Given the description of an element on the screen output the (x, y) to click on. 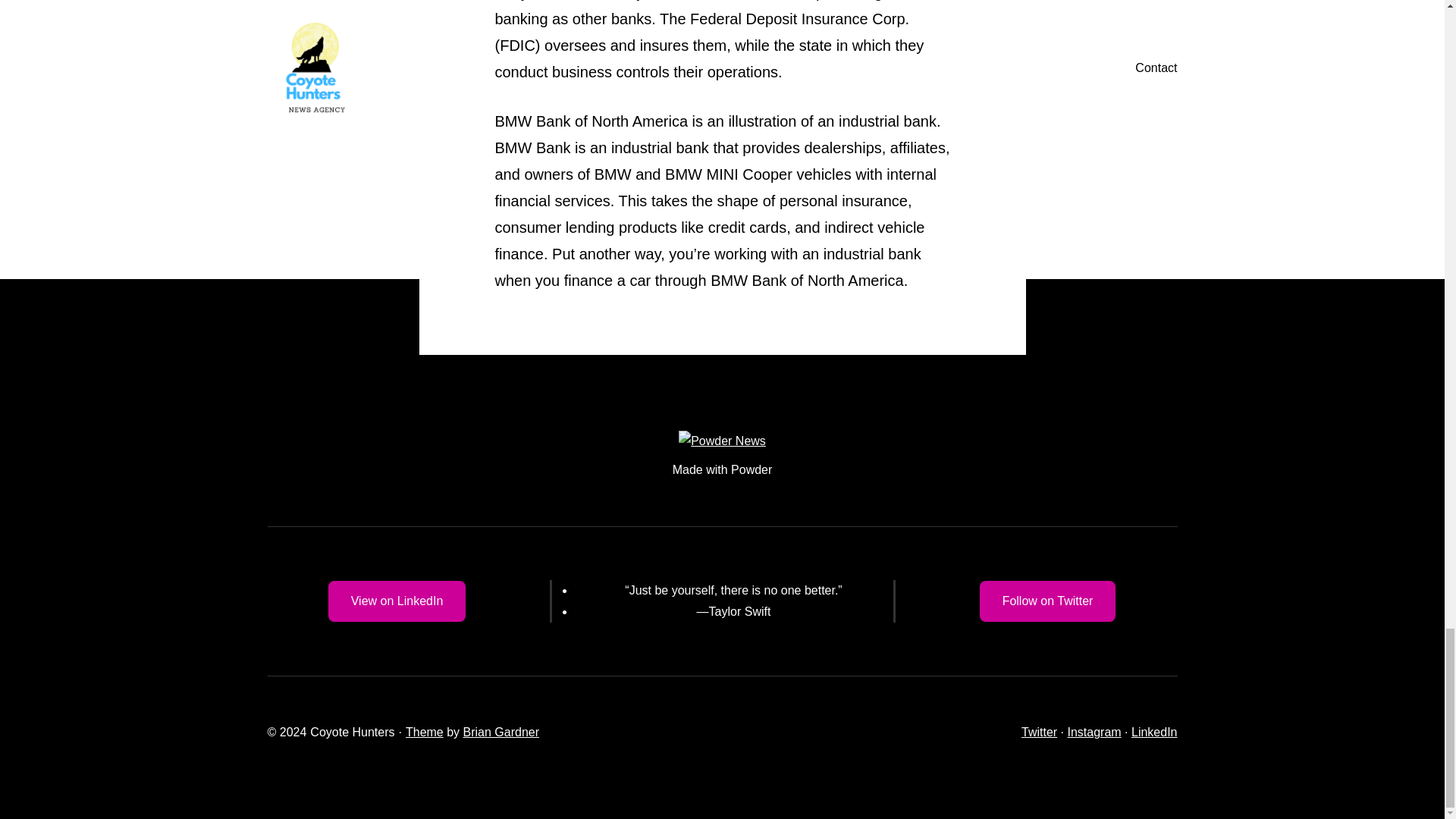
Theme (425, 731)
Twitter (1039, 731)
LinkedIn (1154, 731)
Brian Gardner (501, 731)
Follow on Twitter (1047, 600)
View on LinkedIn (397, 600)
Instagram (1094, 731)
